Given the description of an element on the screen output the (x, y) to click on. 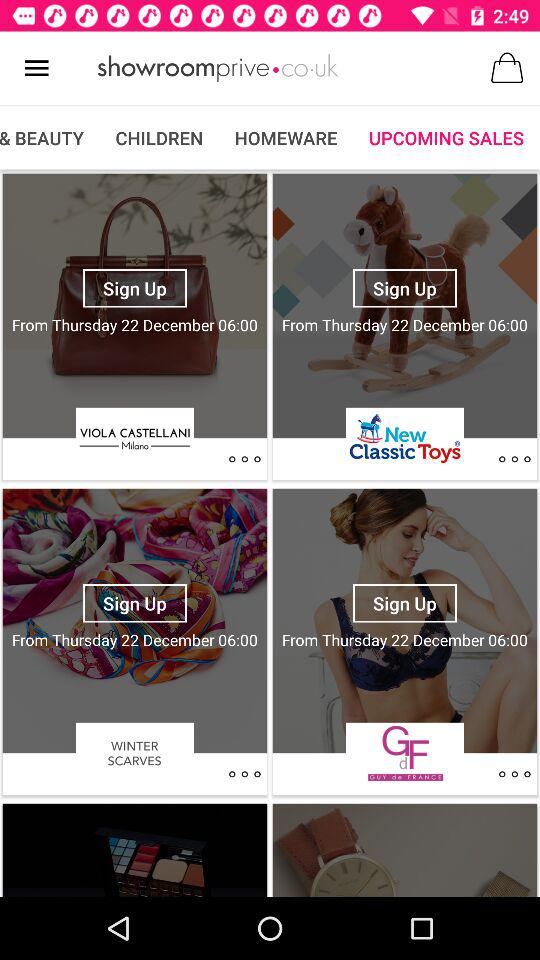
go home (217, 67)
